Given the description of an element on the screen output the (x, y) to click on. 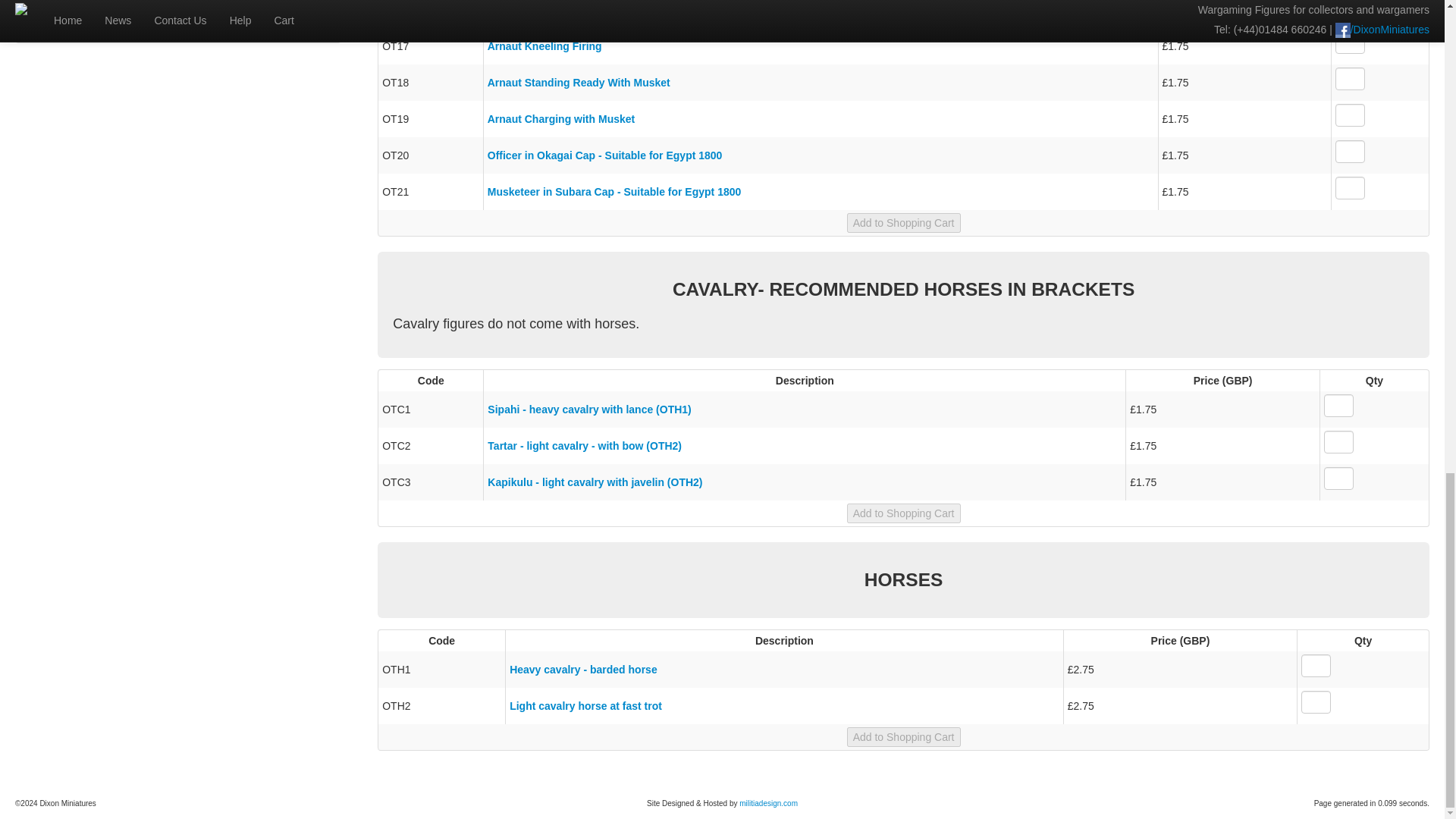
OT18 - Arnaut Standing Ready With Musket (578, 82)
OT17 - Arnaut Kneeling Firing (544, 46)
OT16 - Arnaut in 'Kilt' Standing Firing (563, 9)
